Given the description of an element on the screen output the (x, y) to click on. 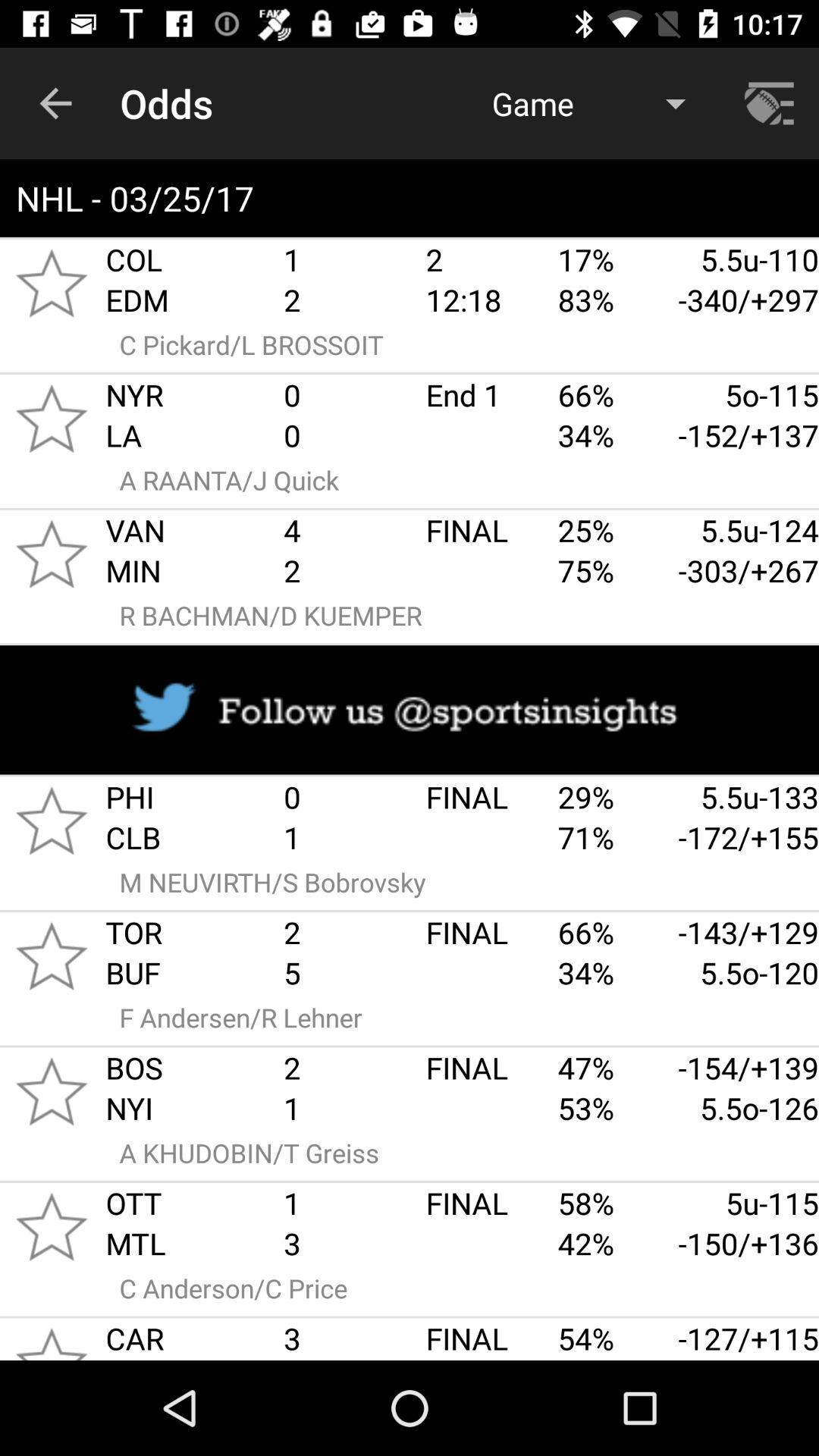
go starring (51, 1226)
